Given the description of an element on the screen output the (x, y) to click on. 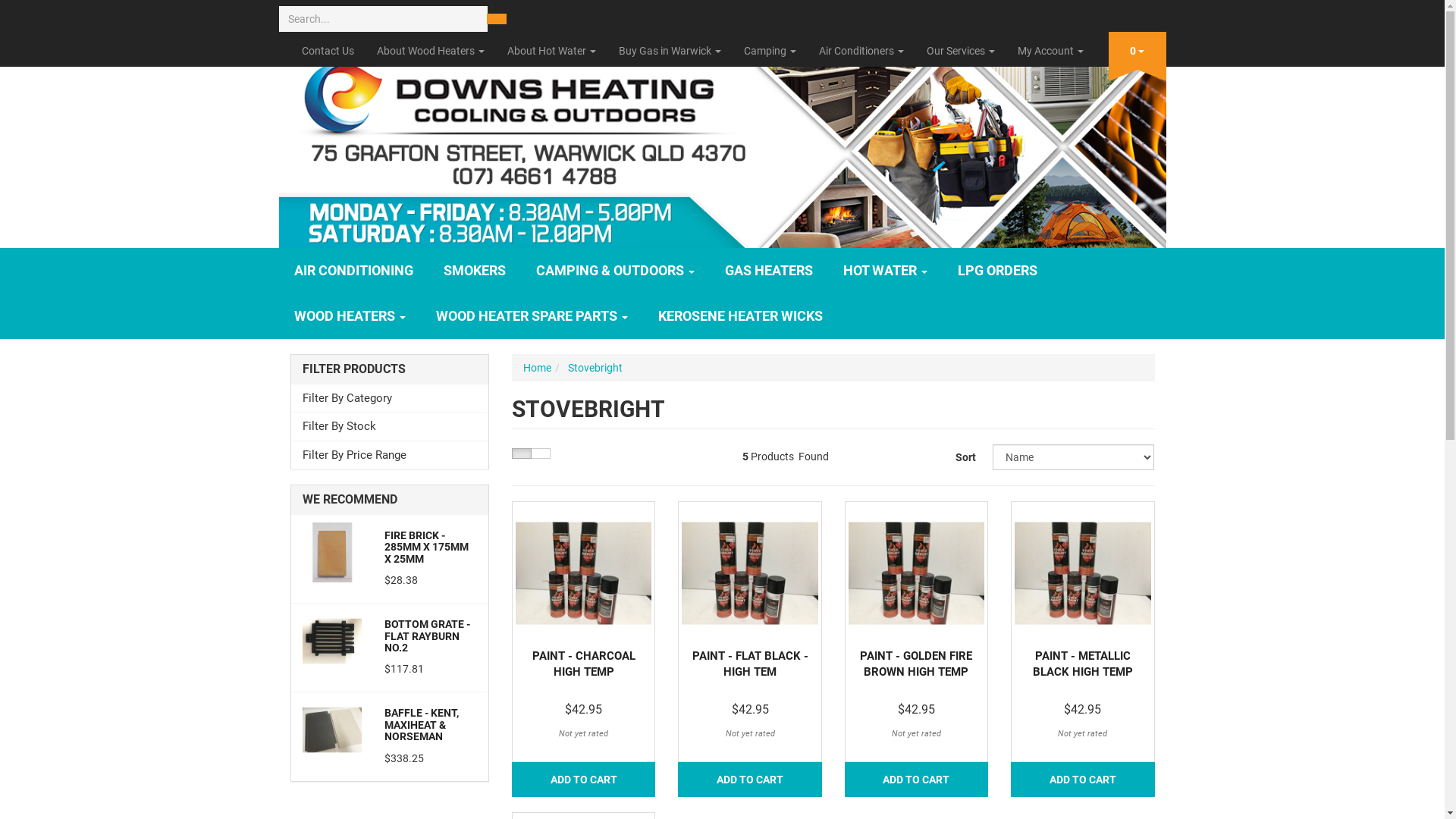
Bottom Grate - Flat Rayburn No.2 Element type: hover (331, 639)
ADD TO CART Element type: text (1082, 779)
ADD TO CART Element type: text (583, 779)
Stovebright Element type: text (594, 367)
HOT WATER Element type: text (885, 270)
AIR CONDITIONING Element type: text (353, 270)
ADD TO CART Element type: text (749, 779)
Buy Gas in Warwick Element type: text (668, 50)
Search Element type: text (496, 18)
SMOKERS Element type: text (473, 270)
CAMPING & OUTDOORS Element type: text (614, 270)
BOTTOM GRATE - FLAT RAYBURN NO.2 Element type: text (427, 635)
FILTER PRODUCTS Element type: text (388, 369)
PAINT - FLAT BLACK - HIGH TEM Element type: text (750, 663)
WOOD HEATERS Element type: text (349, 315)
WOOD HEATER SPARE PARTS Element type: text (531, 315)
Fire Brick - 285mm x 175mm x 25mm Element type: hover (331, 551)
Downs Heating Element type: hover (722, 145)
FIRE BRICK - 285MM X 175MM X 25MM Element type: text (426, 546)
About Wood Heaters Element type: text (430, 50)
Air Conditioners Element type: text (860, 50)
Camping Element type: text (769, 50)
My Account Element type: text (1049, 50)
About Hot Water Element type: text (551, 50)
PAINT - GOLDEN FIRE BROWN HIGH TEMP Element type: text (915, 663)
ADD TO CART Element type: text (916, 779)
KEROSENE HEATER WICKS Element type: text (740, 315)
LPG ORDERS Element type: text (996, 270)
PAINT - METALLIC BLACK HIGH TEMP Element type: text (1082, 663)
Baffle - Kent, Maxiheat & Norseman Element type: hover (331, 728)
BAFFLE - KENT, MAXIHEAT & NORSEMAN Element type: text (421, 724)
PAINT - CHARCOAL HIGH TEMP Element type: text (583, 663)
GAS HEATERS Element type: text (768, 270)
Home Element type: text (537, 367)
Contact Us Element type: text (326, 50)
Our Services Element type: text (959, 50)
0 Element type: text (1137, 47)
